Given the description of an element on the screen output the (x, y) to click on. 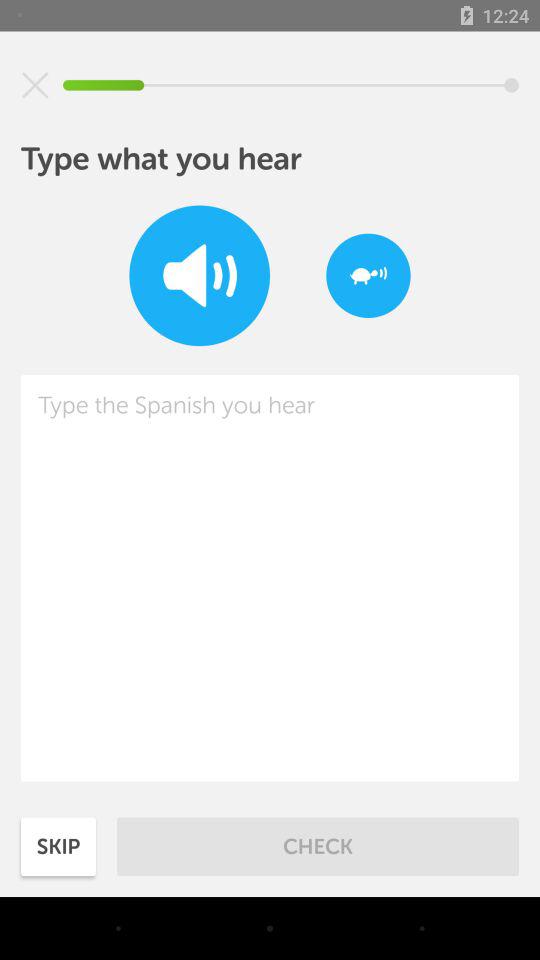
turn off icon to the left of the check icon (58, 846)
